Given the description of an element on the screen output the (x, y) to click on. 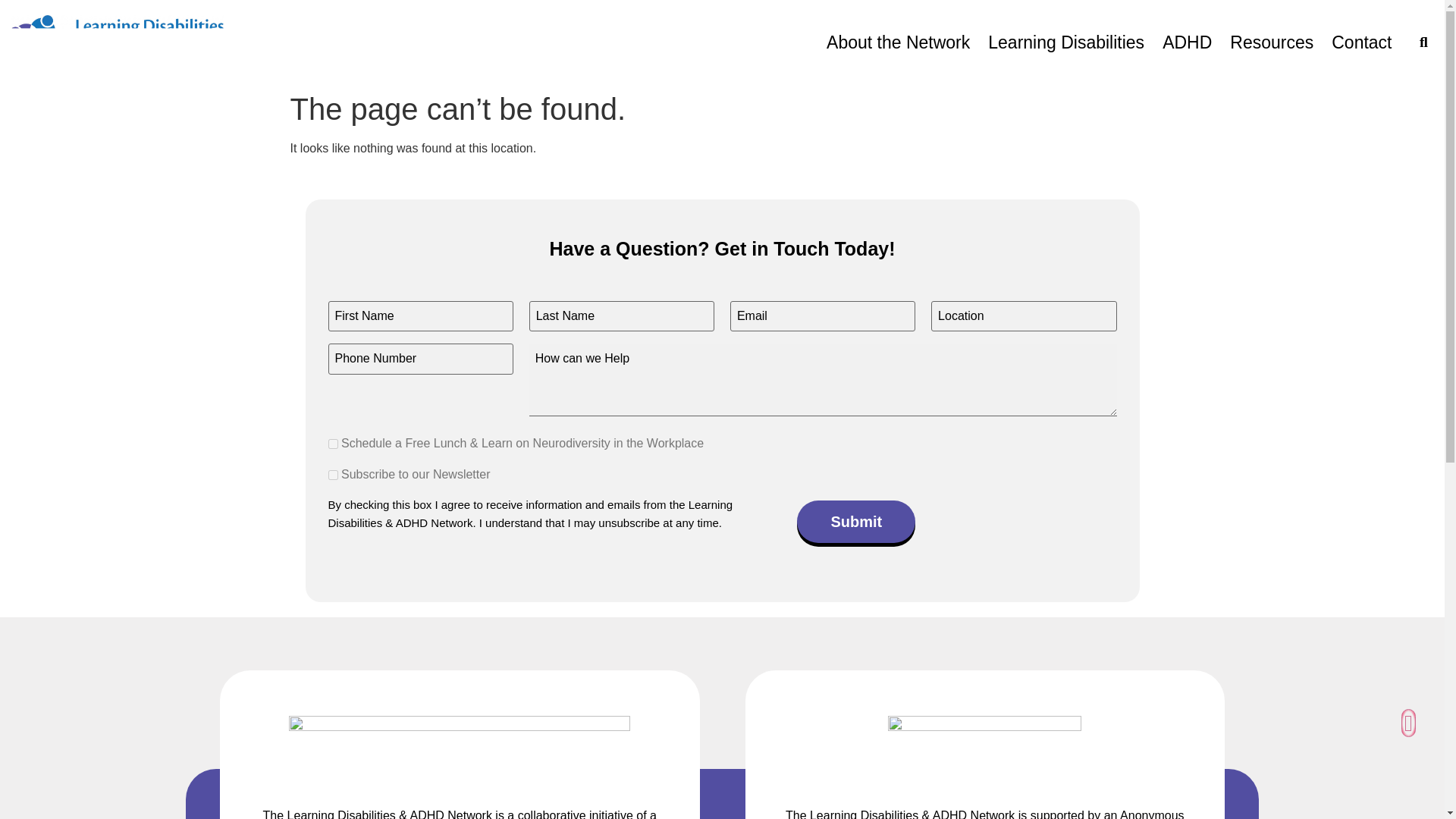
Submit (855, 521)
ADHD (1187, 42)
Subscribe to our Newsletter (332, 474)
About the Network (897, 42)
Contact (1361, 42)
Learning Disabilities (1065, 42)
Resources (1271, 42)
